Given the description of an element on the screen output the (x, y) to click on. 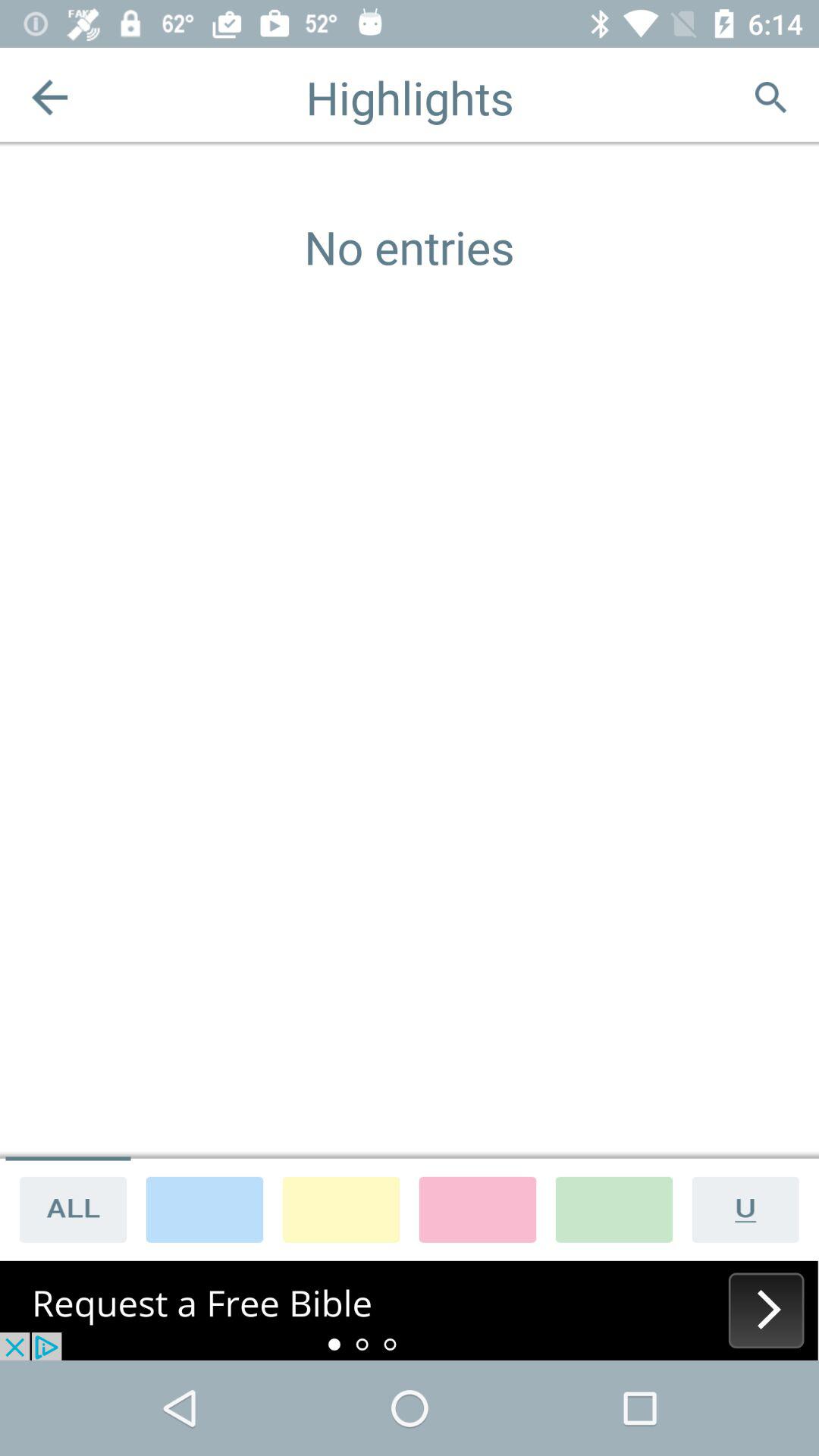
underline text (750, 1208)
